Given the description of an element on the screen output the (x, y) to click on. 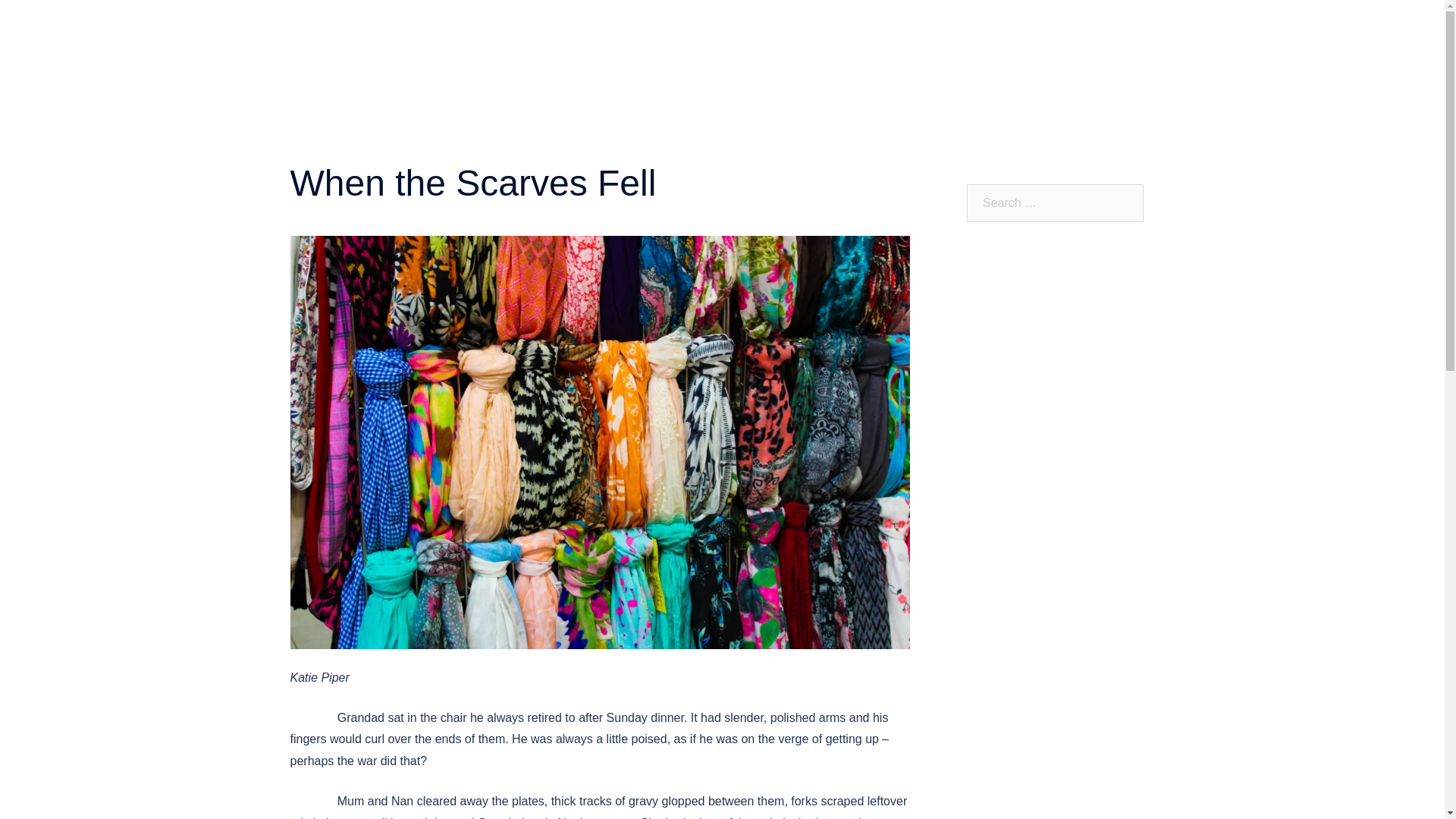
Interviews (1114, 26)
Janus Literary (500, 29)
Issues (1053, 26)
Submit (760, 45)
Support Us (882, 45)
Anthology (992, 26)
Search (32, 18)
Masthead (816, 26)
About (758, 26)
Contact (815, 45)
